Given the description of an element on the screen output the (x, y) to click on. 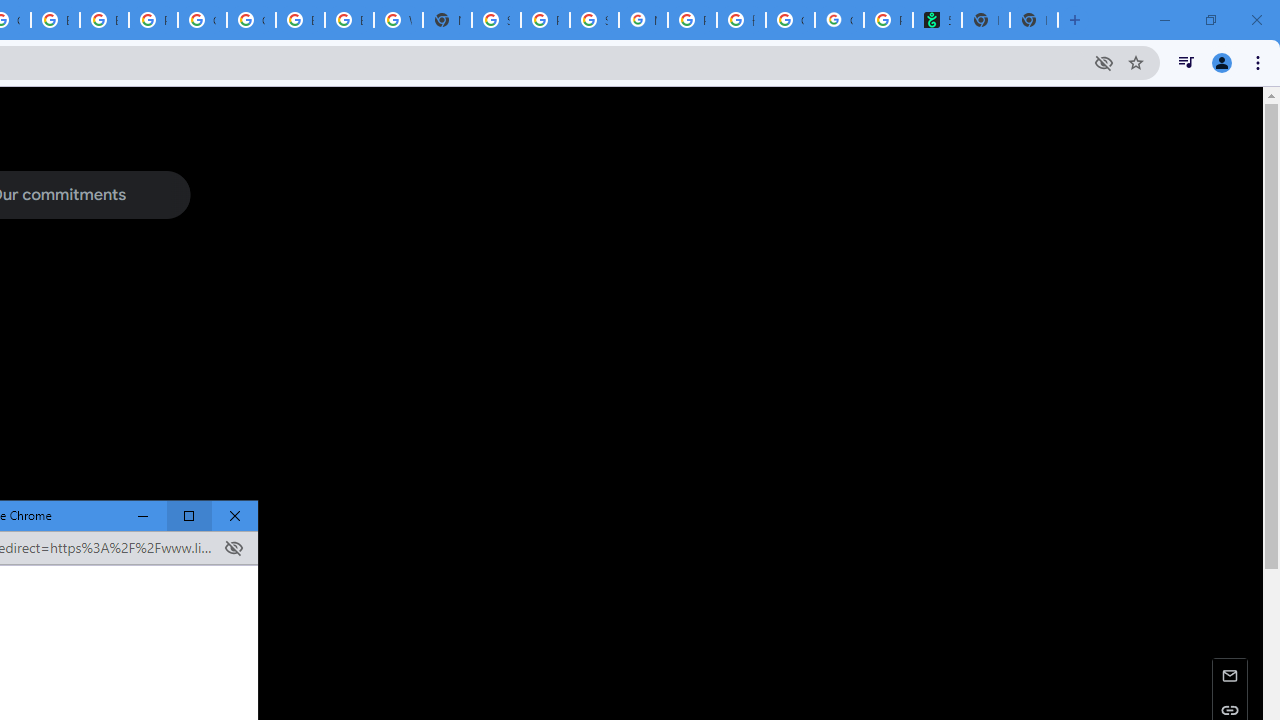
Control your music, videos, and more (1185, 62)
Google Cloud Platform (201, 20)
New Tab (447, 20)
Browse Chrome as a guest - Computer - Google Chrome Help (104, 20)
Browse Chrome as a guest - Computer - Google Chrome Help (55, 20)
